Given the description of an element on the screen output the (x, y) to click on. 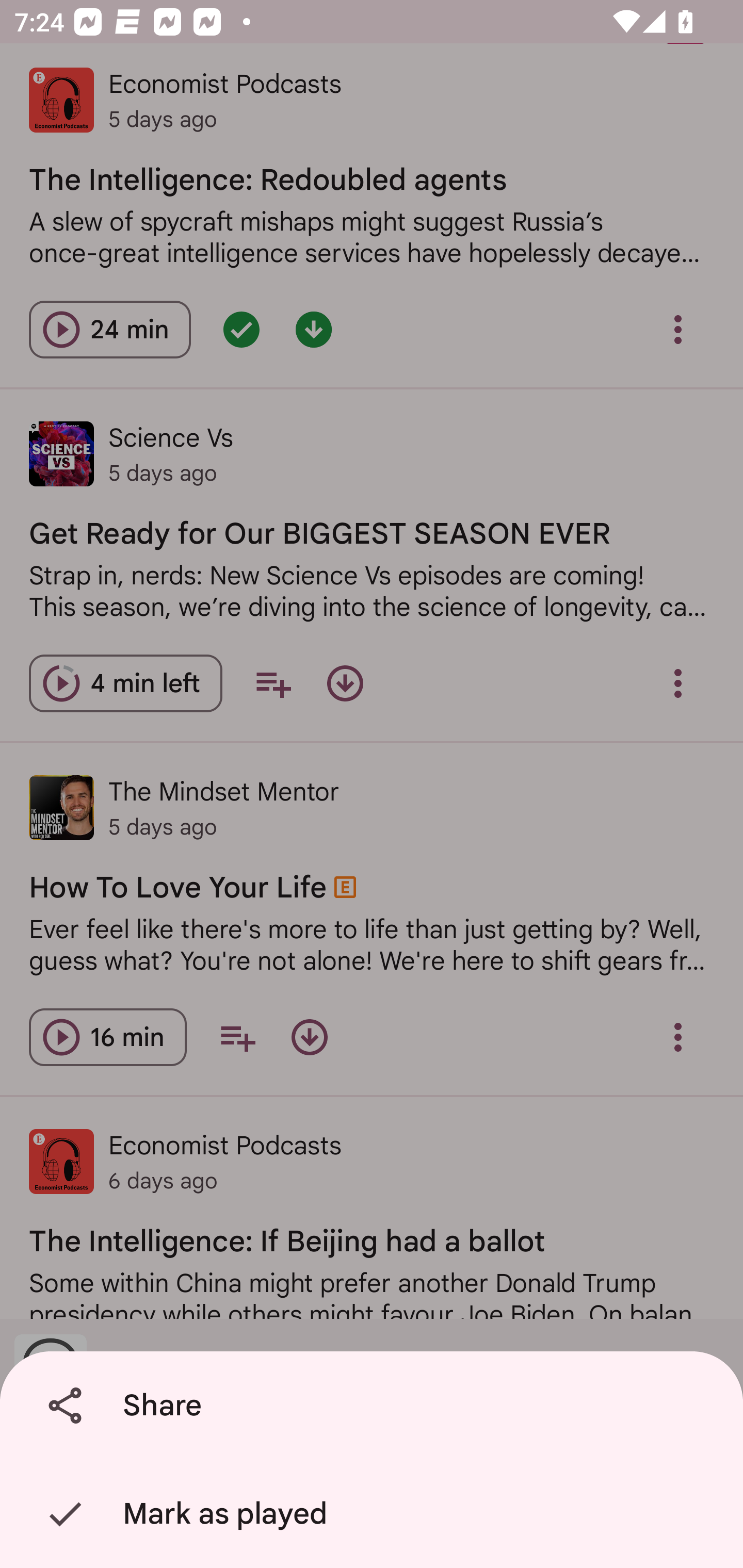
Share (375, 1405)
Mark as played (375, 1513)
